Given the description of an element on the screen output the (x, y) to click on. 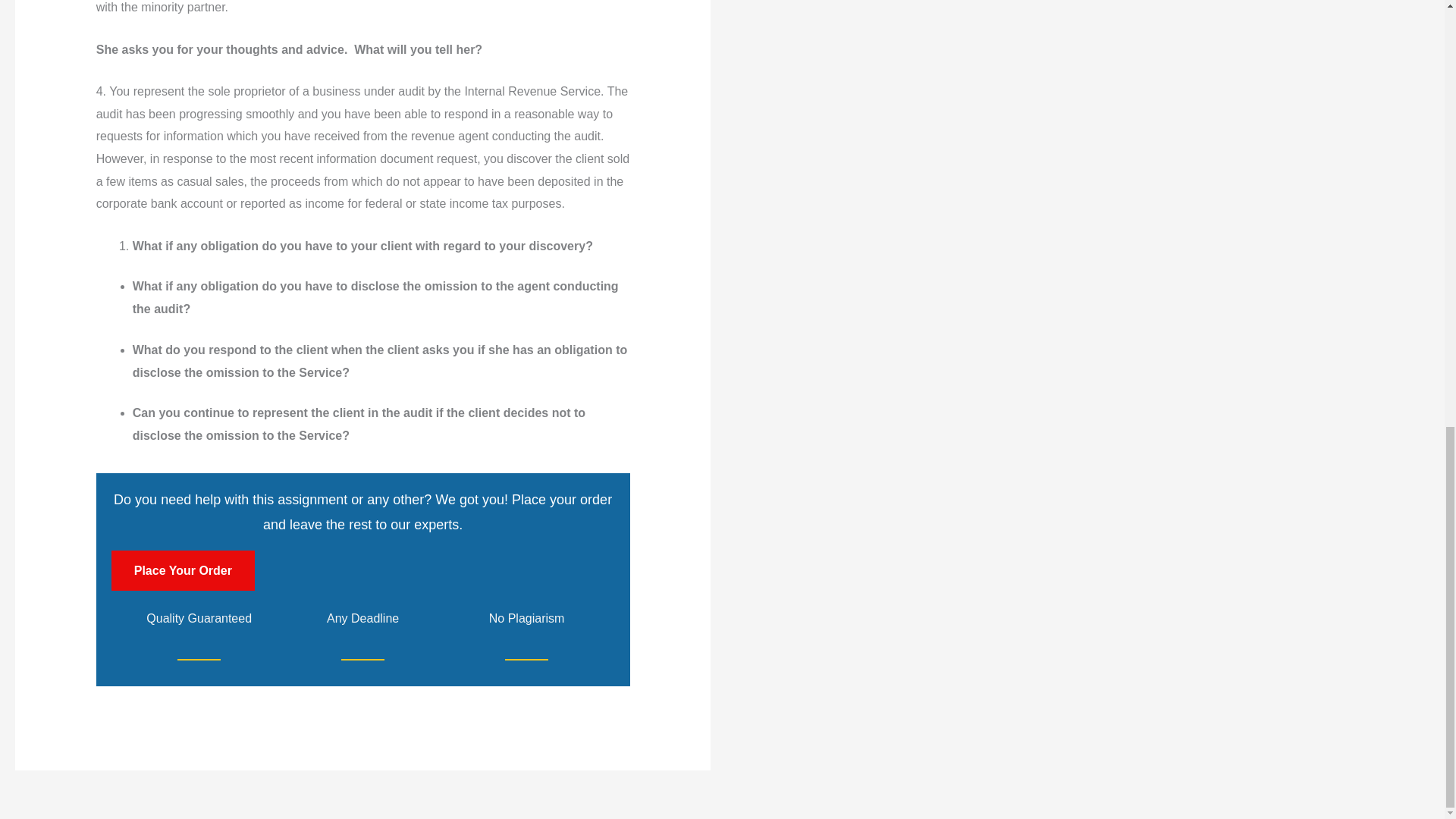
Place Your Order (183, 570)
